Given the description of an element on the screen output the (x, y) to click on. 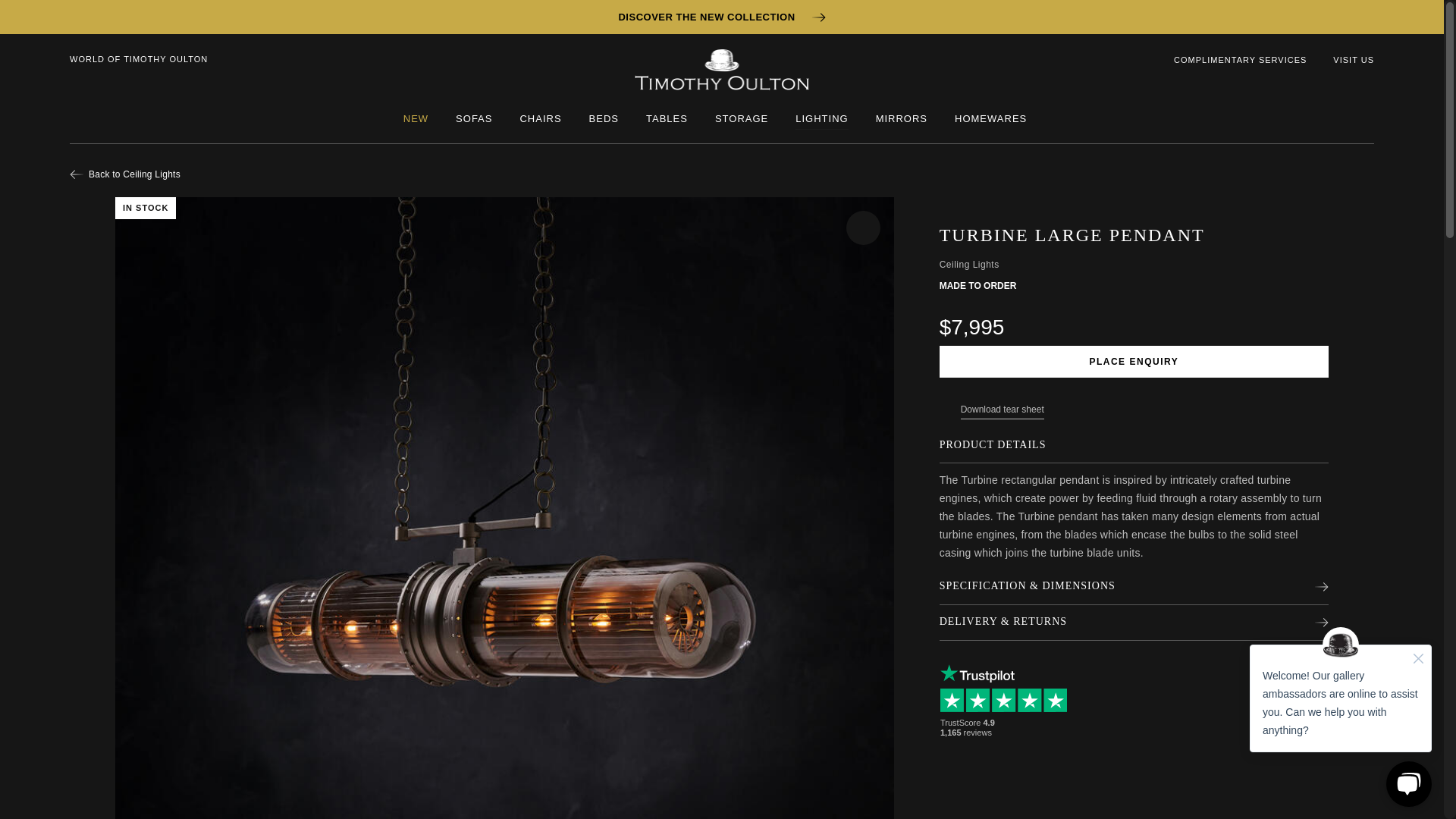
CHAIRS (539, 118)
SOFAS (473, 118)
WORLD OF TIMOTHY OULTON (138, 59)
Search (1368, 91)
COMPLIMENTARY SERVICES (1239, 59)
DISCOVER THE NEW COLLECTION (721, 17)
VISIT US (1353, 59)
NEW (415, 118)
Customer reviews powered by Trustpilot (1007, 701)
